Given the description of an element on the screen output the (x, y) to click on. 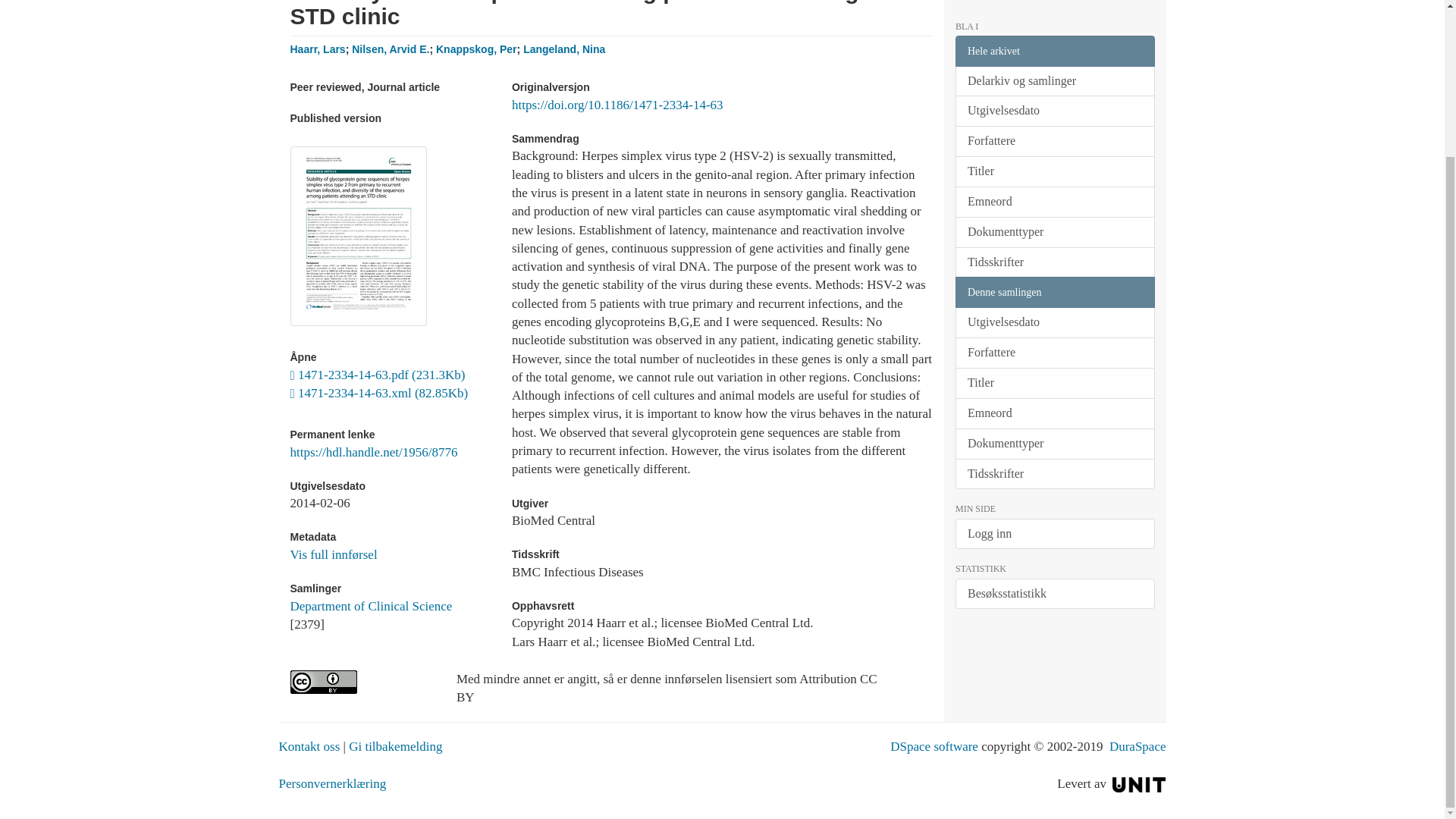
Attribution CC BY (360, 681)
Haarr, Lars (317, 49)
Langeland, Nina (563, 49)
Department of Clinical Science (370, 605)
Knappskog, Per (475, 49)
Unit (1139, 783)
Nilsen, Arvid E. (390, 49)
